Given the description of an element on the screen output the (x, y) to click on. 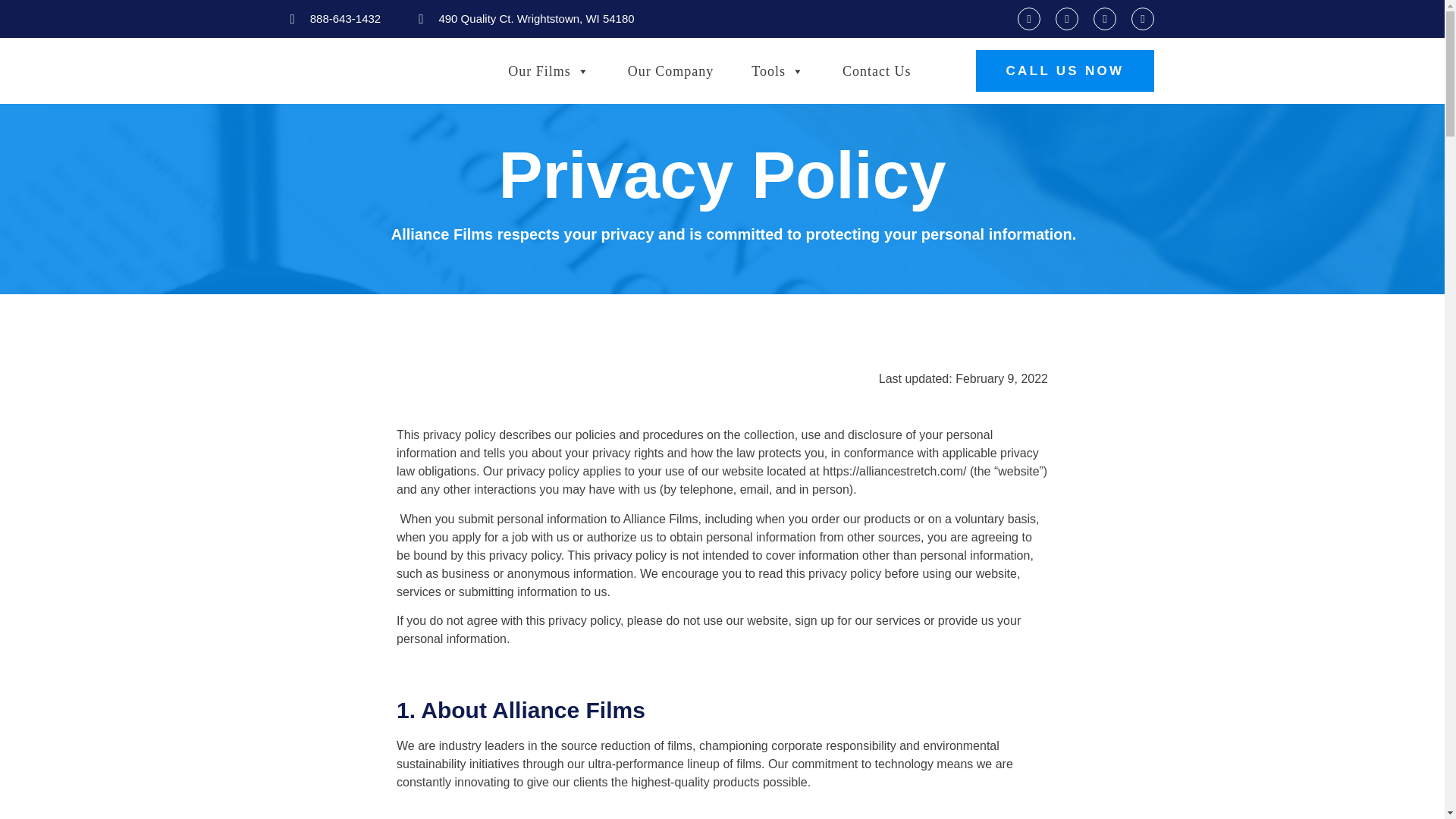
Tools (777, 71)
Our Company (670, 71)
CALL US NOW (1064, 70)
888-643-1432 (334, 18)
Contact Us (876, 71)
490 Quality Ct. Wrightstown, WI 54180 (526, 18)
Our Films (549, 71)
